Given the description of an element on the screen output the (x, y) to click on. 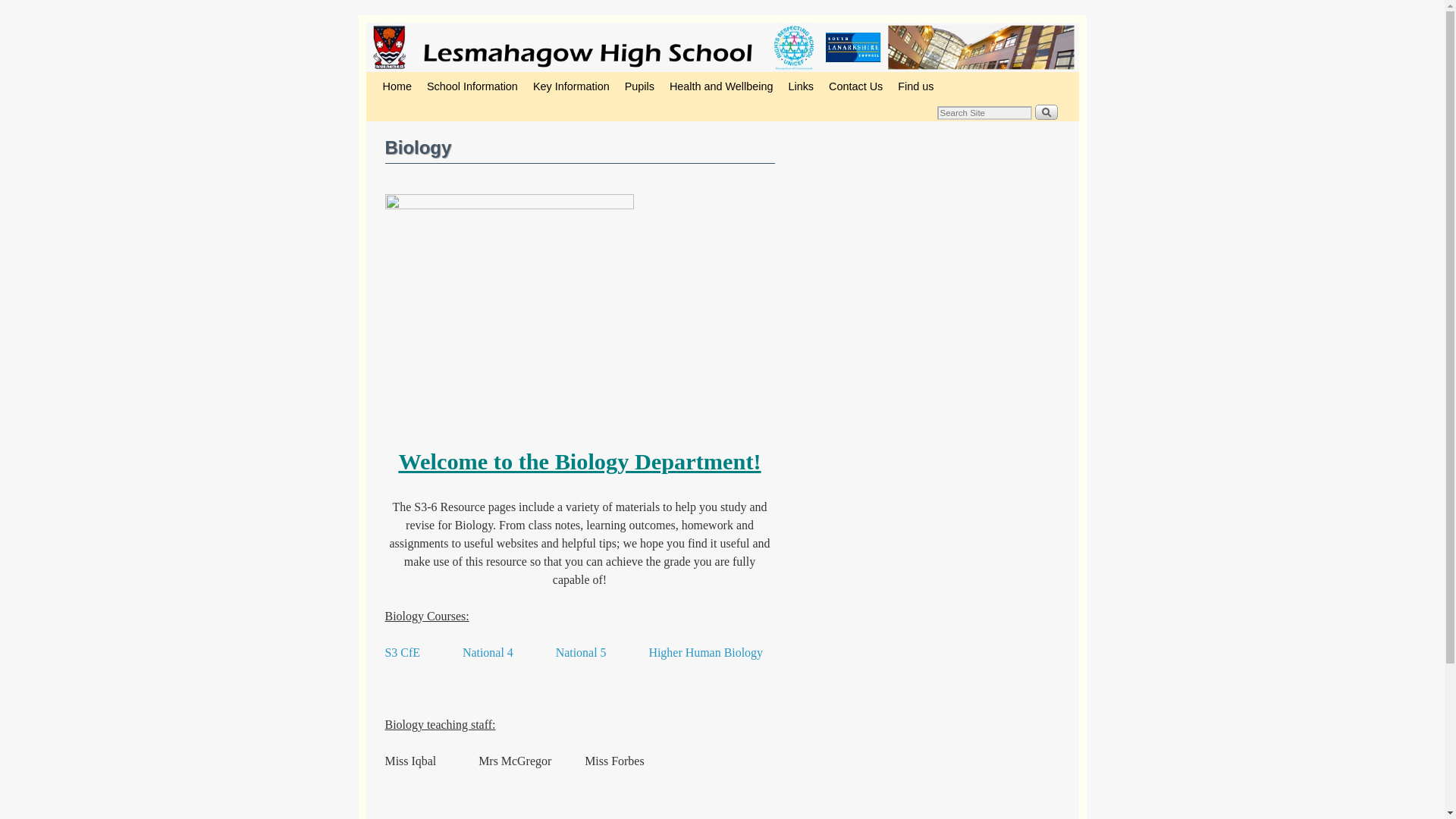
Health and Wellbeing (721, 86)
National 4 (488, 652)
National 5 (581, 652)
Key Information (571, 86)
S3 CfE (402, 652)
Higher Human Biology (704, 652)
Skip to primary content (408, 78)
School Information (472, 86)
Home (396, 86)
Links (800, 86)
